Given the description of an element on the screen output the (x, y) to click on. 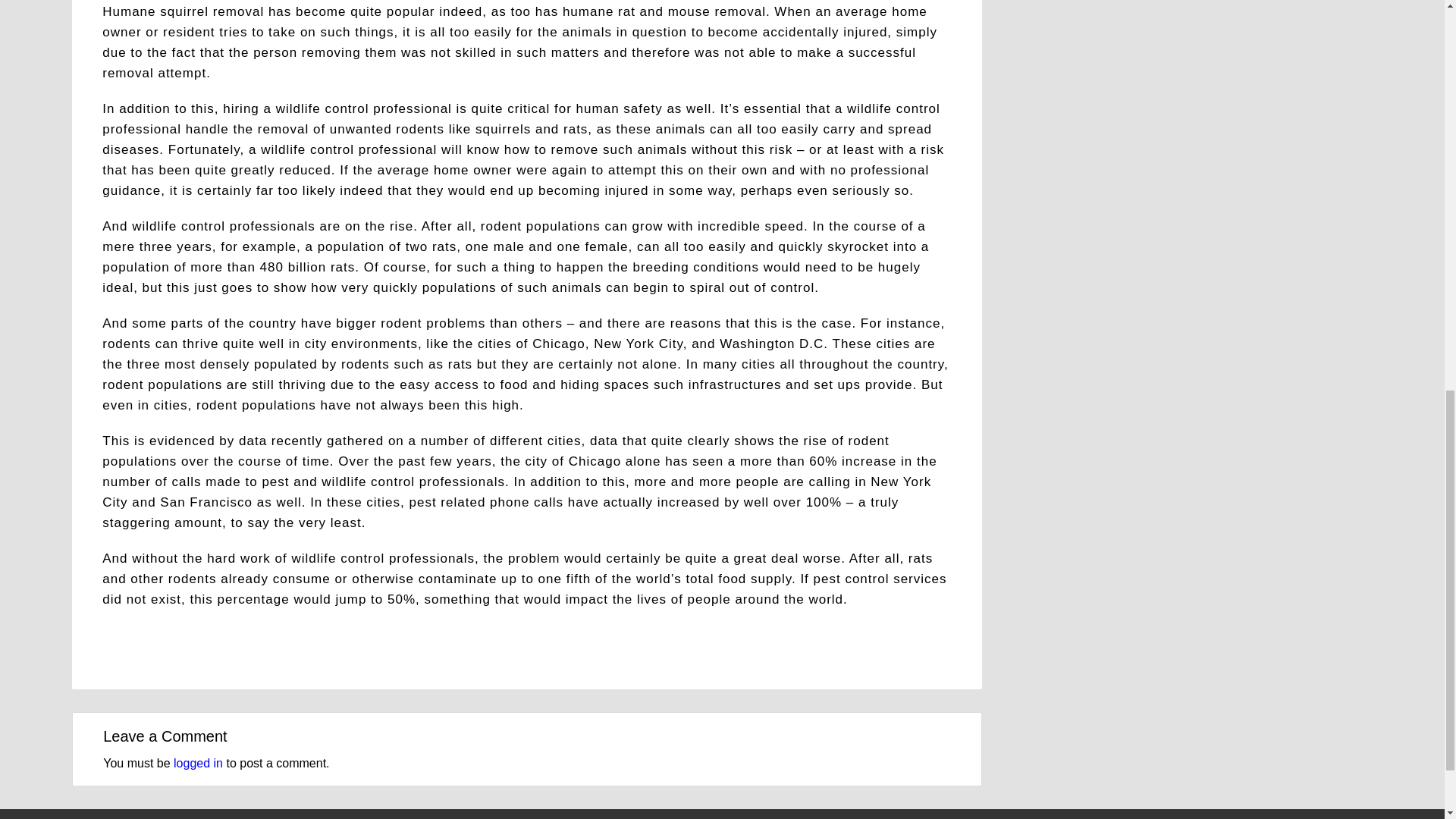
logged in (197, 762)
